Given the description of an element on the screen output the (x, y) to click on. 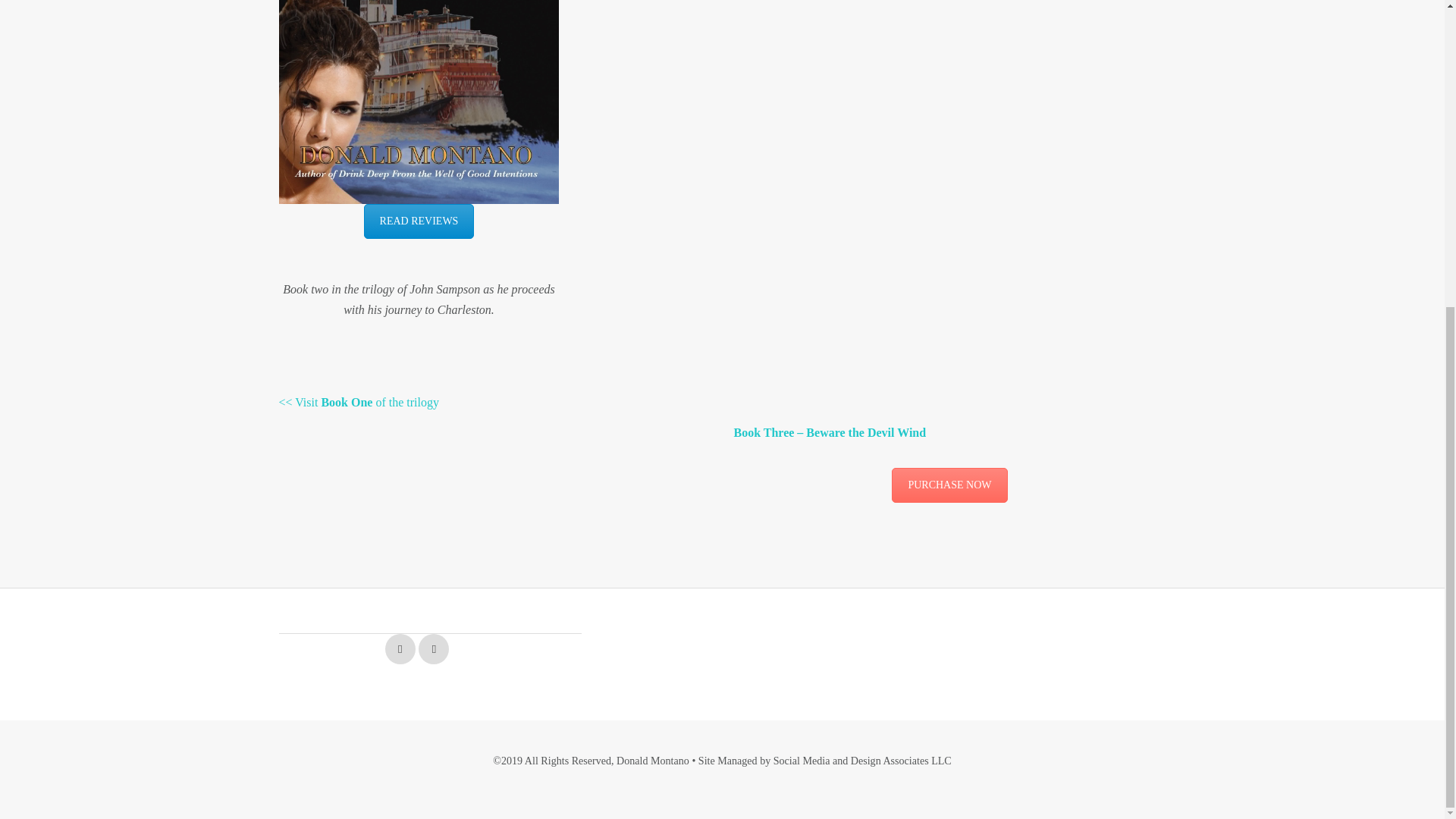
Book Reviews for The Dangerous Journey Home (419, 221)
The Dangerous Journey Home (949, 484)
PURCHASE NOW (949, 484)
READ REVIEWS (419, 221)
